Given the description of an element on the screen output the (x, y) to click on. 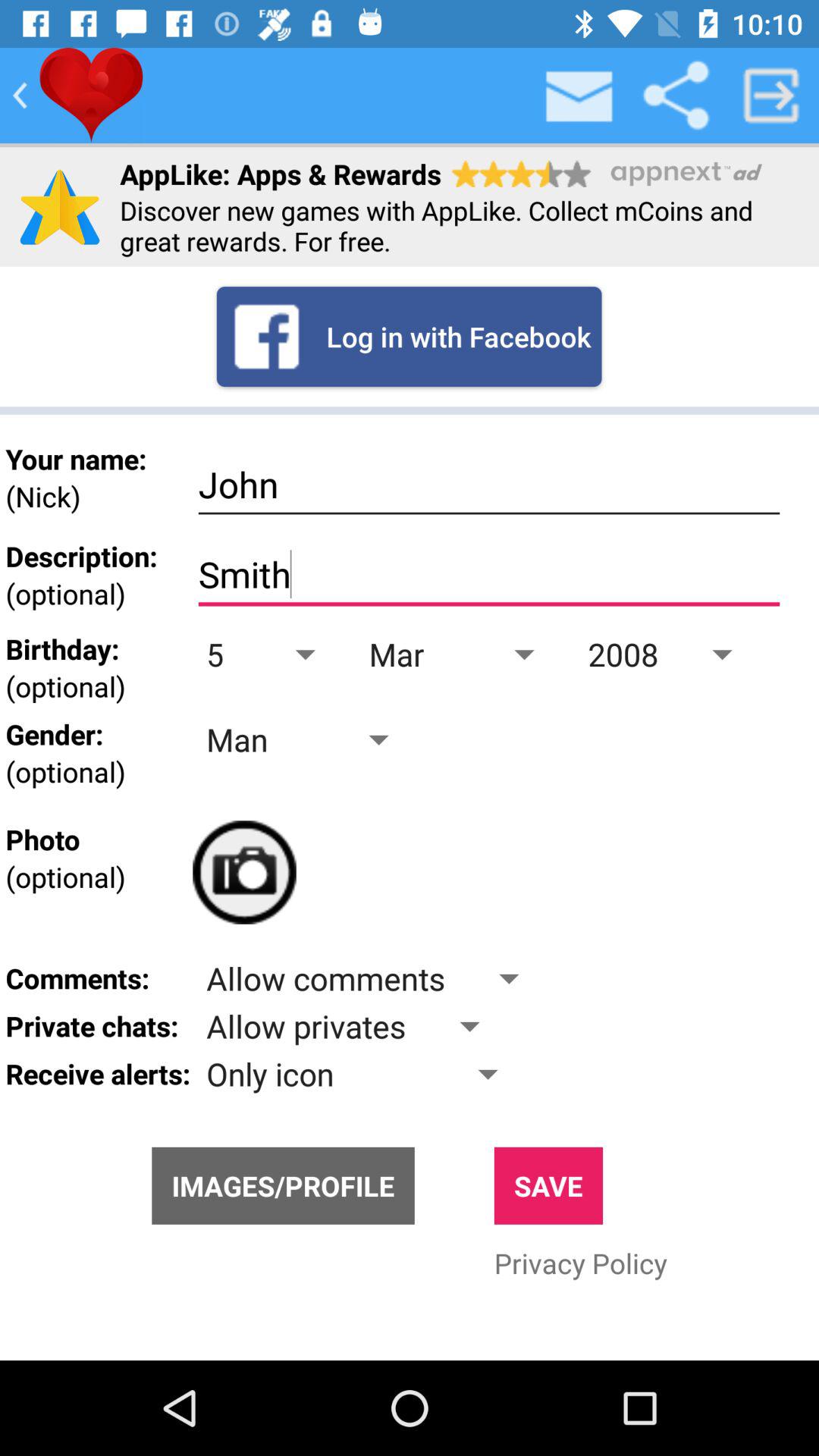
share email (675, 95)
